Given the description of an element on the screen output the (x, y) to click on. 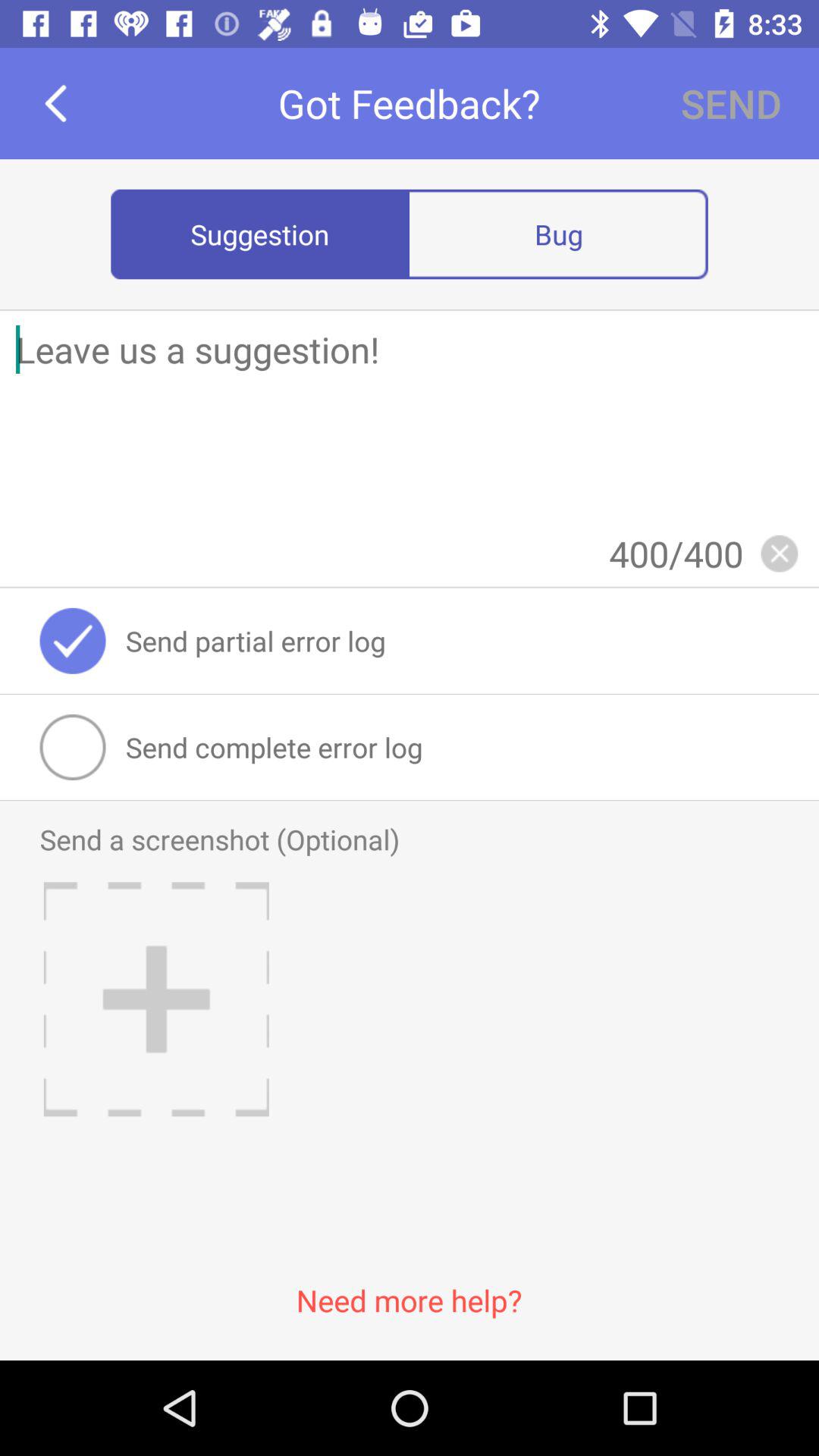
launch icon next to the suggestion radio button (558, 234)
